Given the description of an element on the screen output the (x, y) to click on. 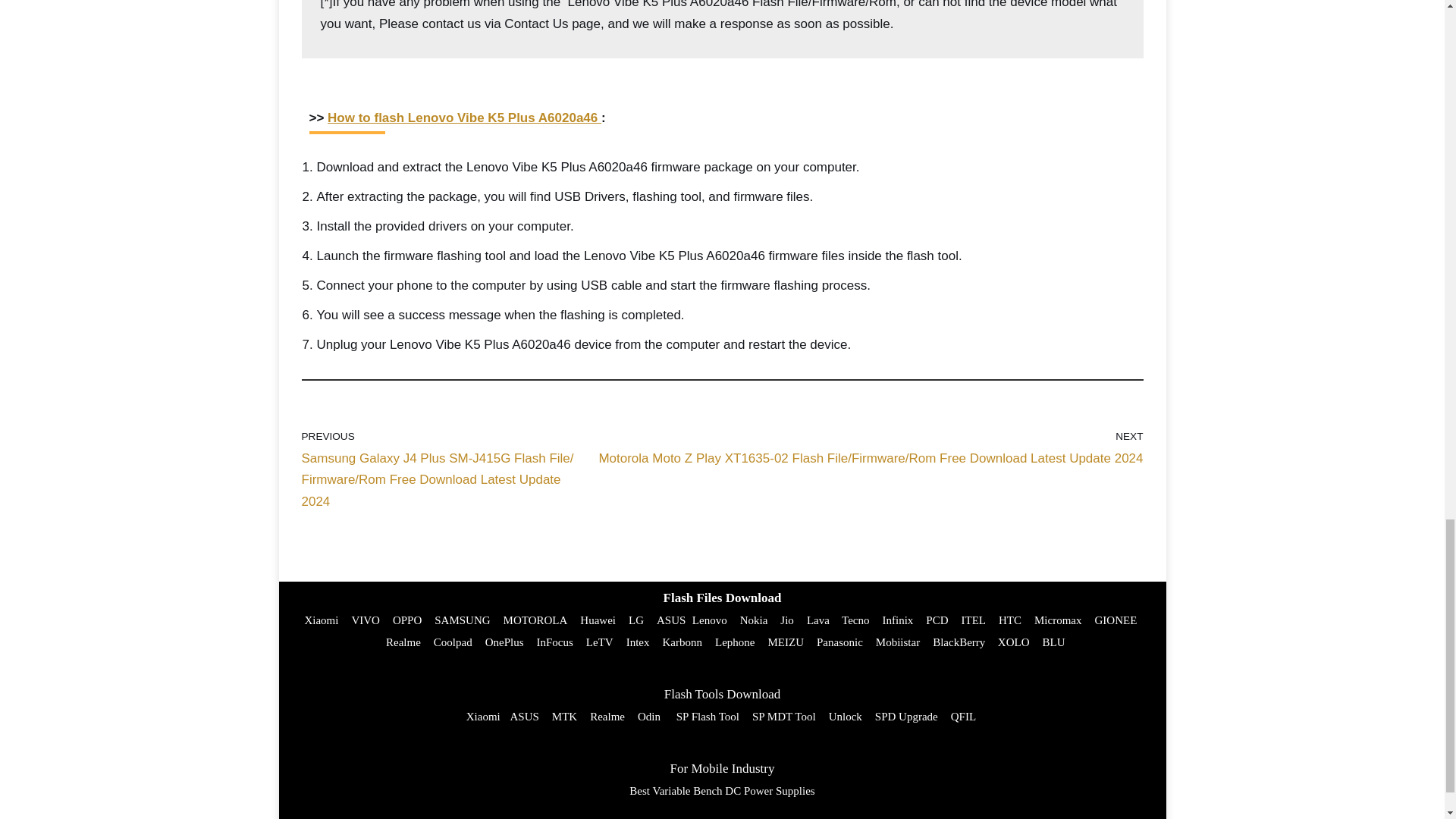
How to flash Lenovo Vibe K5 Plus A6020a46 (464, 117)
Xiaomi (320, 620)
